Given the description of an element on the screen output the (x, y) to click on. 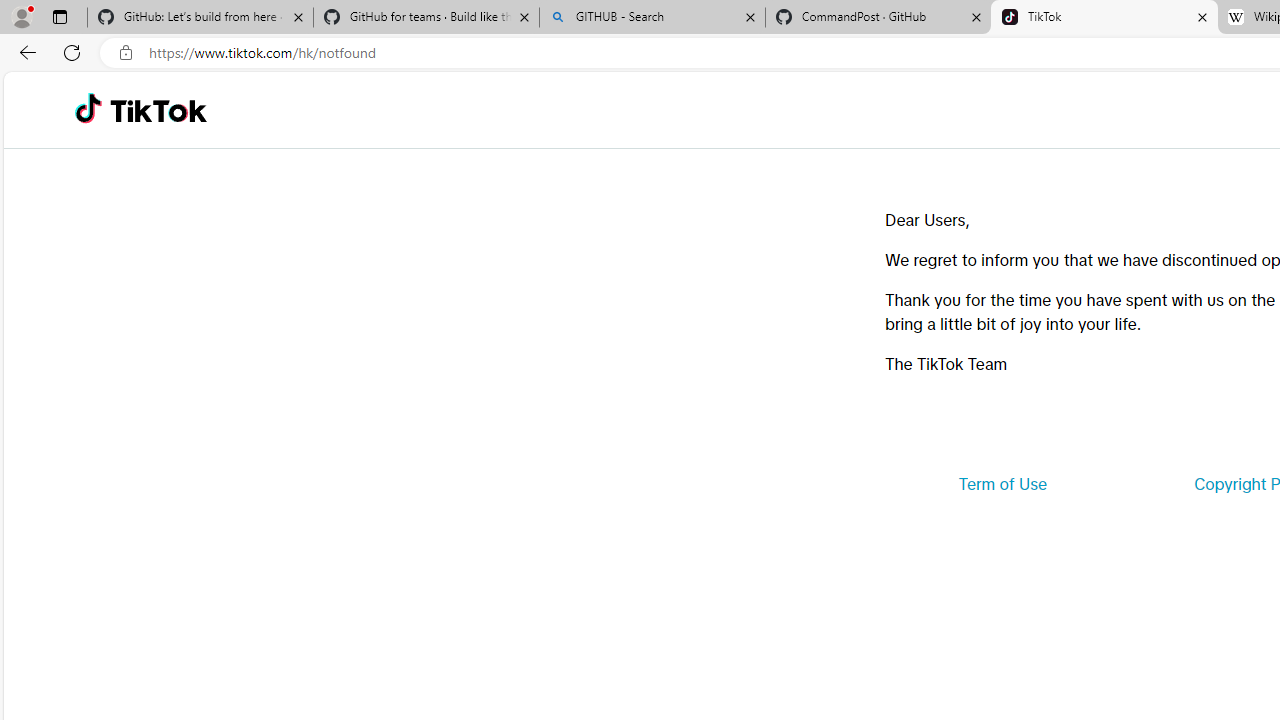
GITHUB - Search (652, 17)
TikTok (1104, 17)
TikTok (158, 110)
Term of Use (1002, 484)
